Given the description of an element on the screen output the (x, y) to click on. 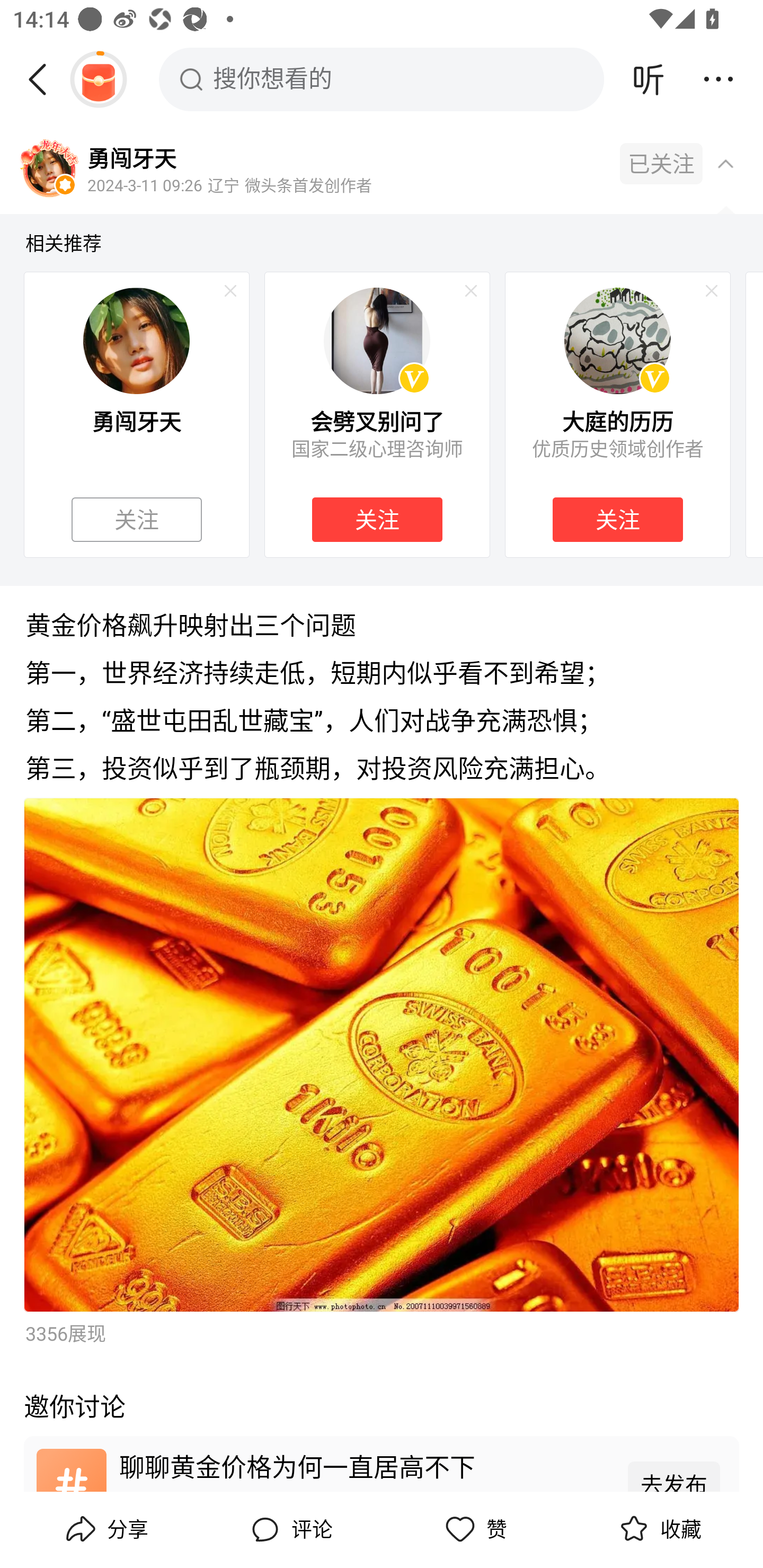
返回 (44, 78)
听头条 (648, 78)
更多操作 (718, 78)
搜你想看的 搜索框，搜你想看的 (381, 79)
阅读赚金币 (98, 79)
勇闯牙天 (131, 157)
已关注 (660, 163)
勇闯牙天头像 (48, 169)
折叠相关作者推荐 (725, 162)
勇闯牙天头像 勇闯牙天 关注 关注 不感兴趣 (136, 414)
不感兴趣 (230, 290)
会劈叉别问了头像 会劈叉别问了 国家二级心理咨询师 关注 关注 不感兴趣 (376, 414)
不感兴趣 (470, 290)
大庭的历历头像 大庭的历历 优质历史领域创作者 关注 关注 不感兴趣 (617, 414)
不感兴趣 (711, 290)
勇闯牙天头像 (136, 339)
会劈叉别问了头像 (376, 339)
大庭的历历头像 (617, 339)
关注 (136, 519)
关注 (377, 519)
关注 (617, 519)
内容图片 (381, 1055)
聊聊黄金价格为何一直居高不下:说说你的看法::按钮 (381, 1463)
分享 (104, 1529)
评论, 评论 (288, 1529)
,收藏 收藏 (658, 1529)
